Given the description of an element on the screen output the (x, y) to click on. 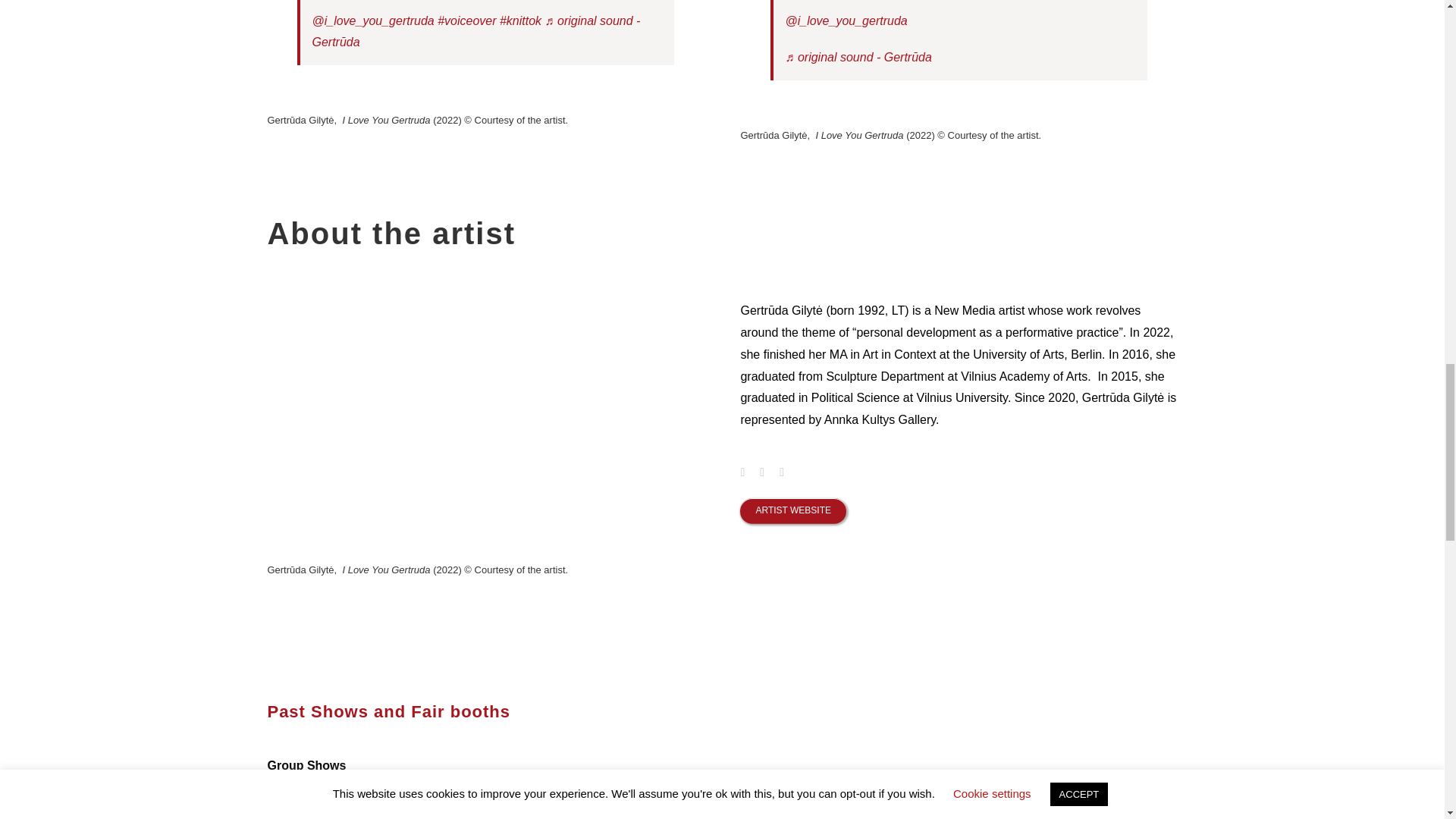
YouTube video player (478, 419)
knittok (520, 20)
voiceover (467, 20)
